Given the description of an element on the screen output the (x, y) to click on. 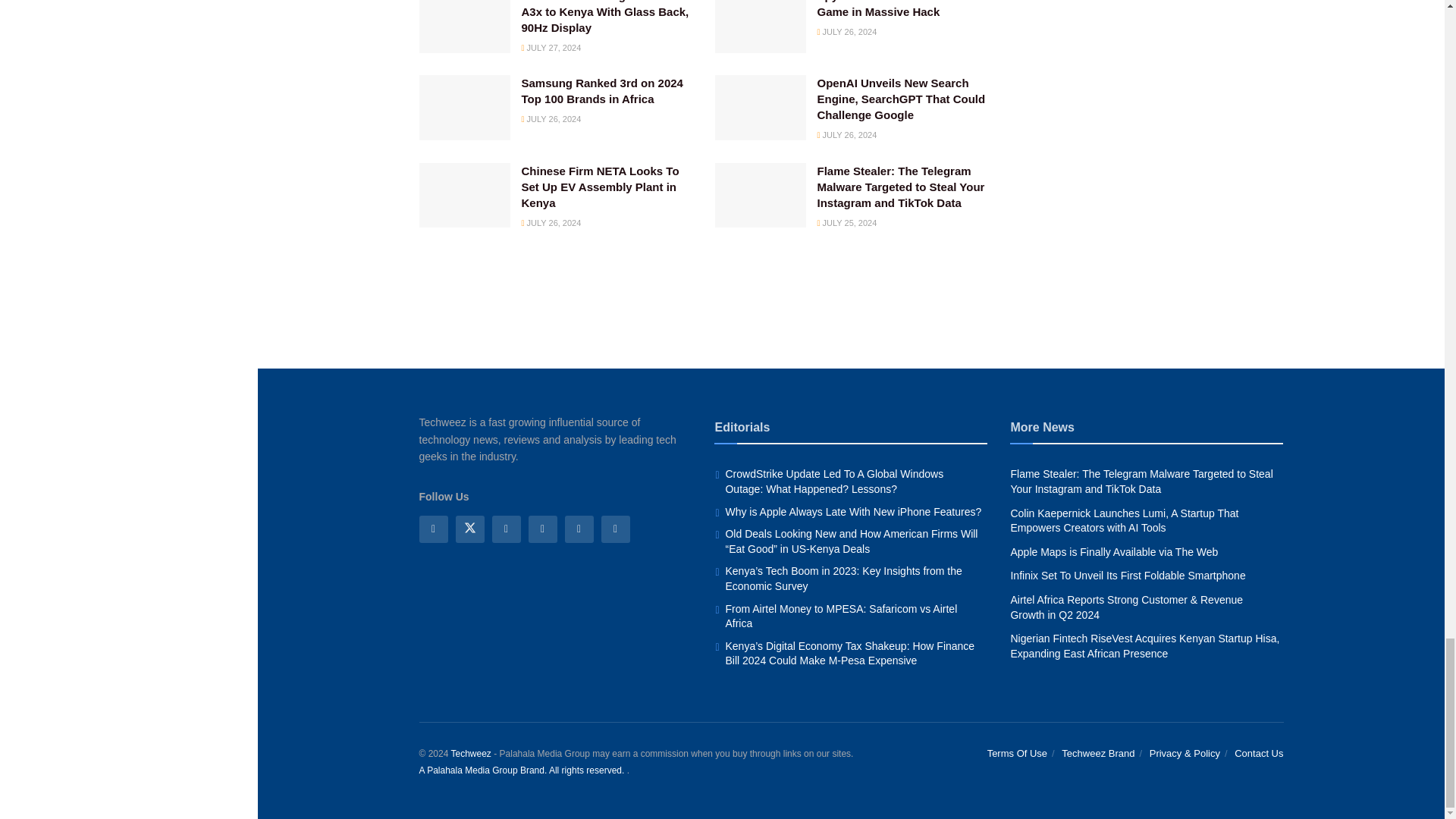
Techweez, a Palahala Media Group Brand. All rights reserved (469, 753)
